Given the description of an element on the screen output the (x, y) to click on. 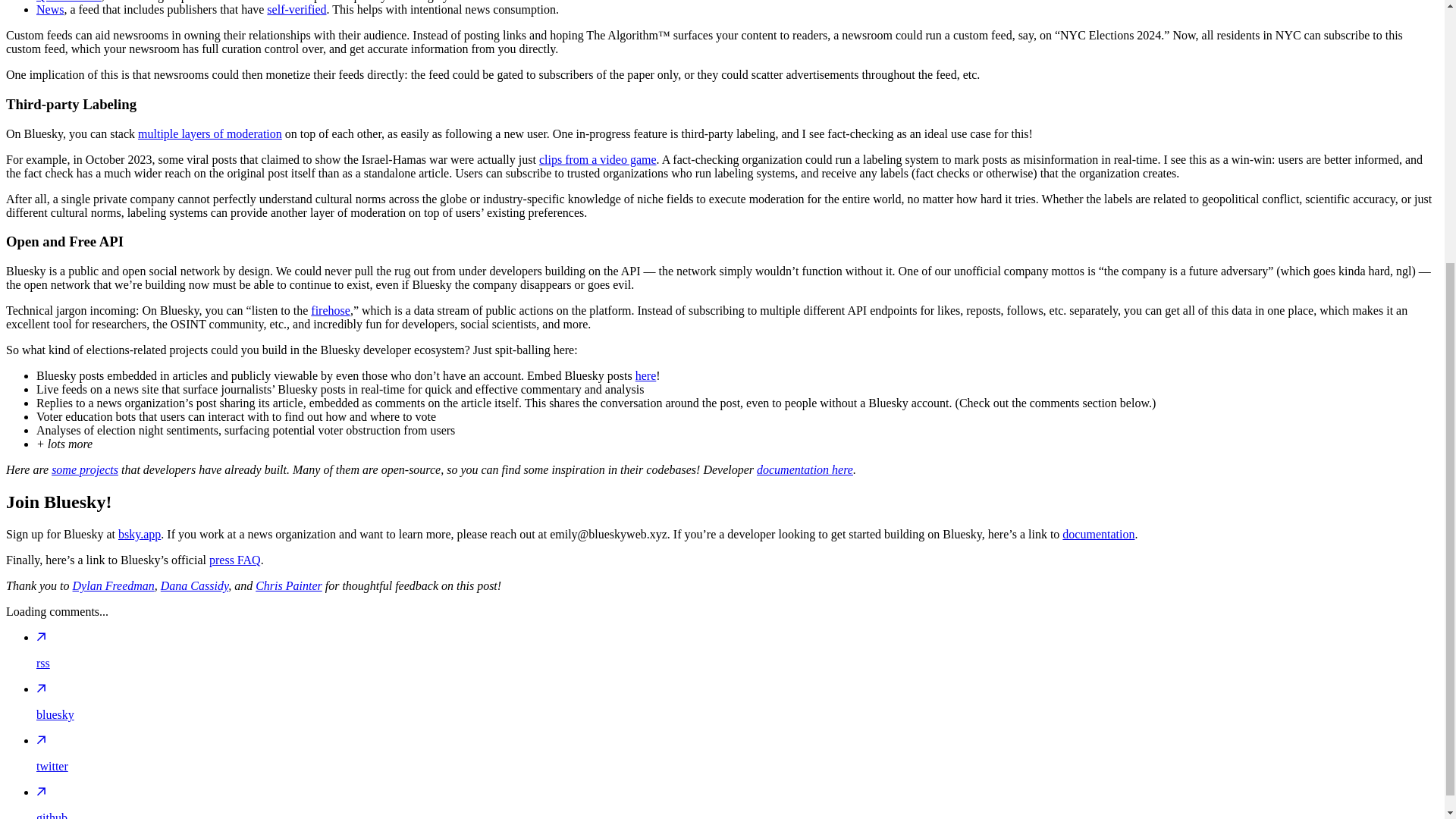
clips from a video game (597, 158)
News (50, 9)
Quiet Posters (68, 1)
here (645, 375)
press FAQ (234, 559)
multiple layers of moderation (210, 132)
self-verified (296, 9)
some projects (83, 469)
documentation here (805, 469)
Dylan Freedman (113, 585)
firehose (330, 309)
Dana Cassidy (194, 585)
documentation (1098, 533)
bsky.app (138, 533)
Chris Painter (288, 585)
